Given the description of an element on the screen output the (x, y) to click on. 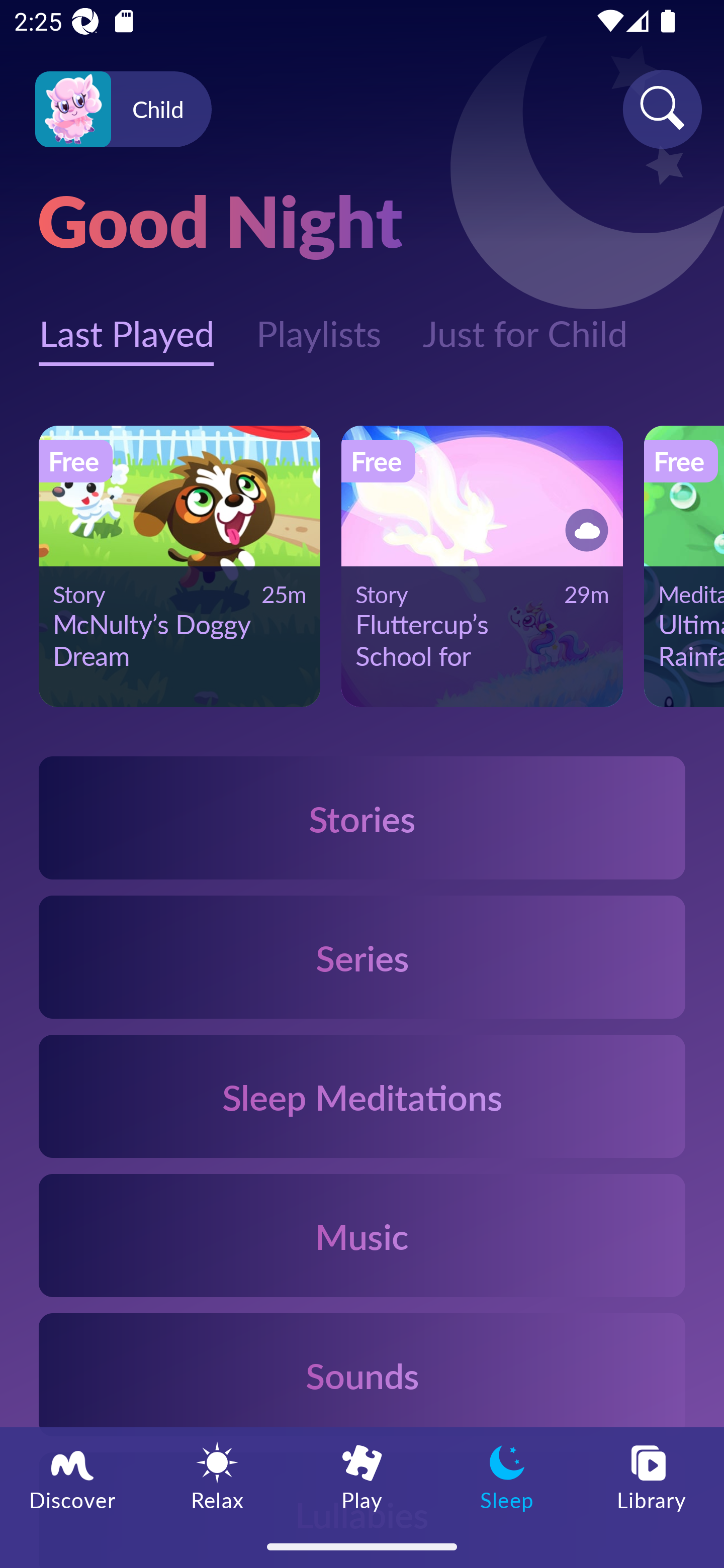
Profile icon Child (123, 109)
Playlists (317, 322)
Just for Child (524, 322)
Button (583, 529)
Stories (361, 817)
Series (361, 957)
Sleep Meditations (361, 1096)
Music (361, 1234)
Sounds (361, 1374)
Discover (72, 1475)
Relax (216, 1475)
Play (361, 1475)
Library (651, 1475)
